Given the description of an element on the screen output the (x, y) to click on. 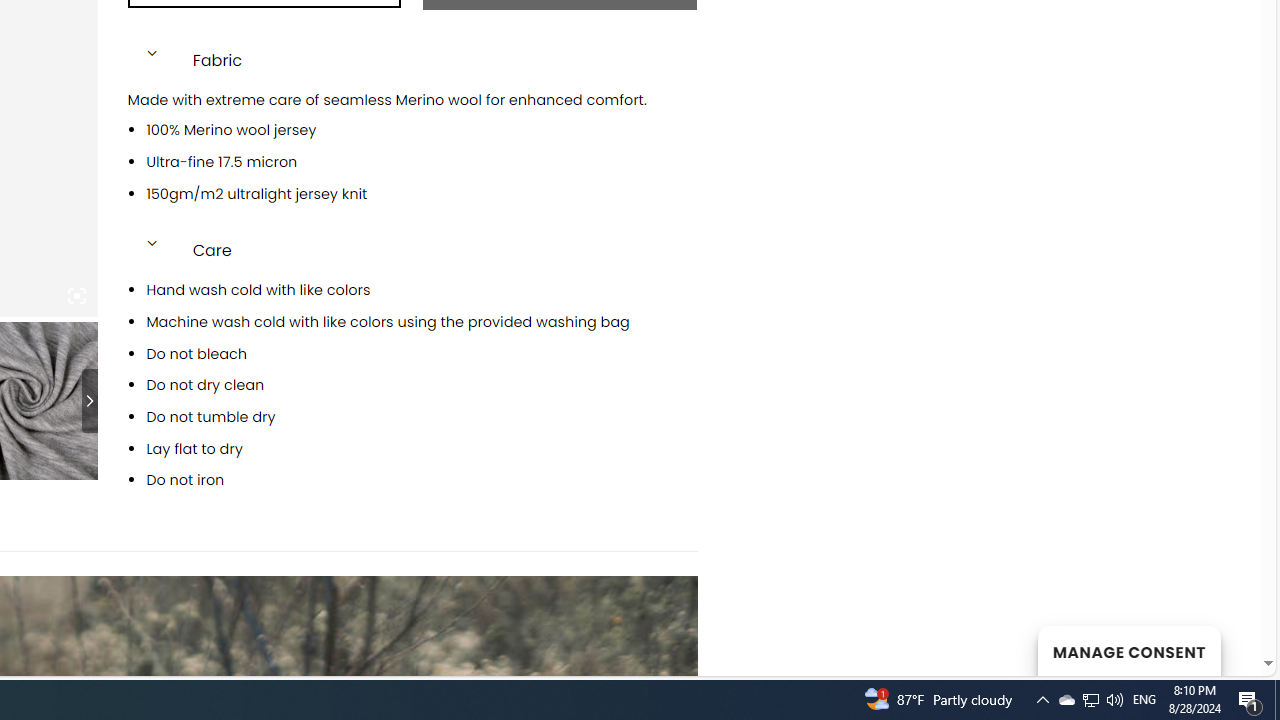
150gm/m2 ultralight jersey knit (421, 193)
100% Merino wool jersey (421, 130)
Do not dry clean (421, 385)
Hand wash cold with like colors (421, 291)
Ultra-fine 17.5 micron (421, 162)
Lay flat to dry (421, 448)
Do not bleach (421, 353)
Do not iron (421, 480)
Class: iconic-woothumbs-fullscreen (75, 296)
MANAGE CONSENT (1128, 650)
Do not tumble dry (421, 417)
